Given the description of an element on the screen output the (x, y) to click on. 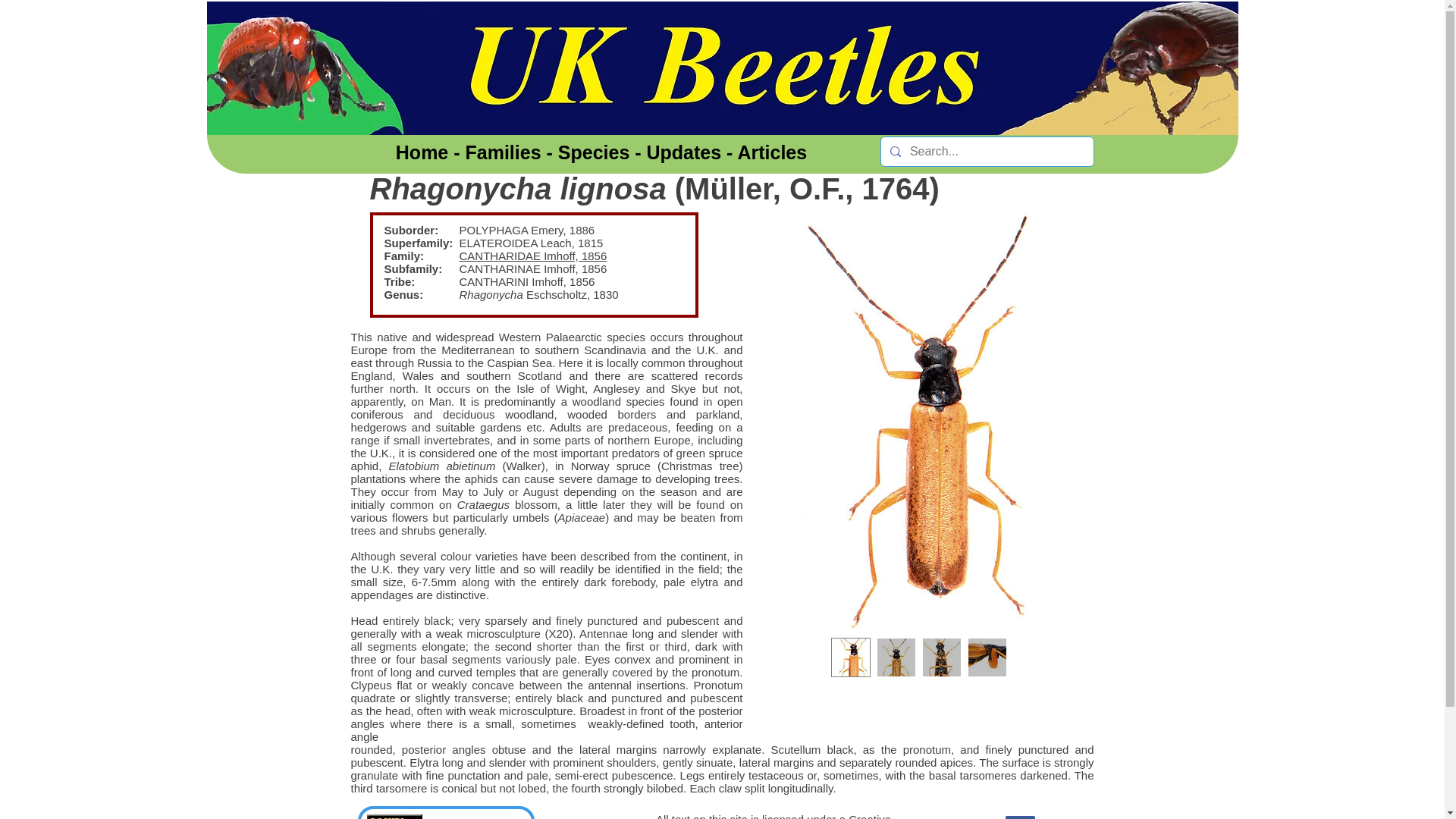
Updates (684, 151)
Creative Commons Attribution 4.0 International License (773, 816)
Home (422, 151)
Articles (771, 151)
Families (503, 151)
CANTHARIDAE Imhoff, 1856 (533, 255)
Species (593, 151)
